Given the description of an element on the screen output the (x, y) to click on. 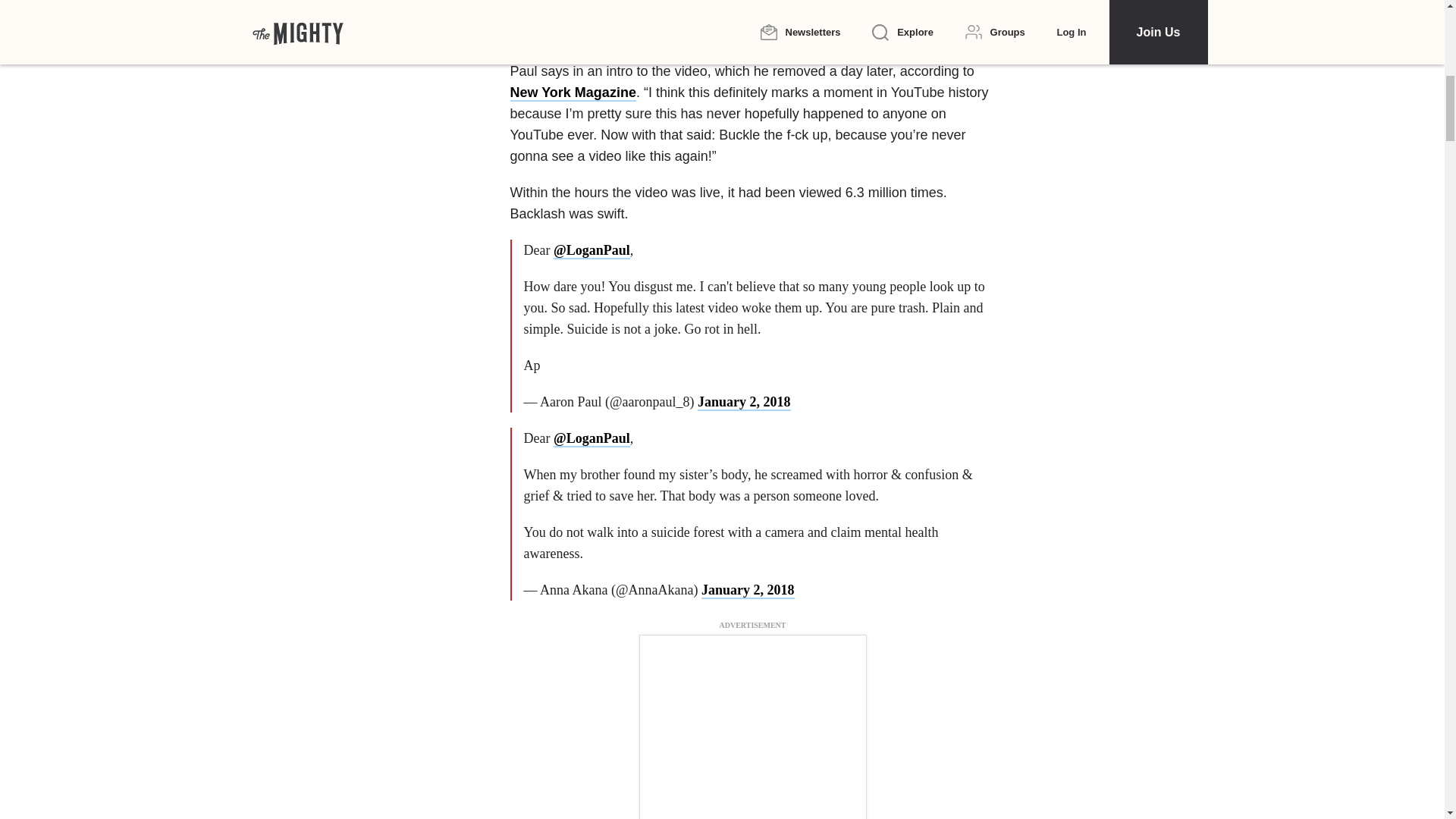
January 2, 2018 (743, 402)
January 2, 2018 (747, 590)
New York Magazine (571, 93)
